Given the description of an element on the screen output the (x, y) to click on. 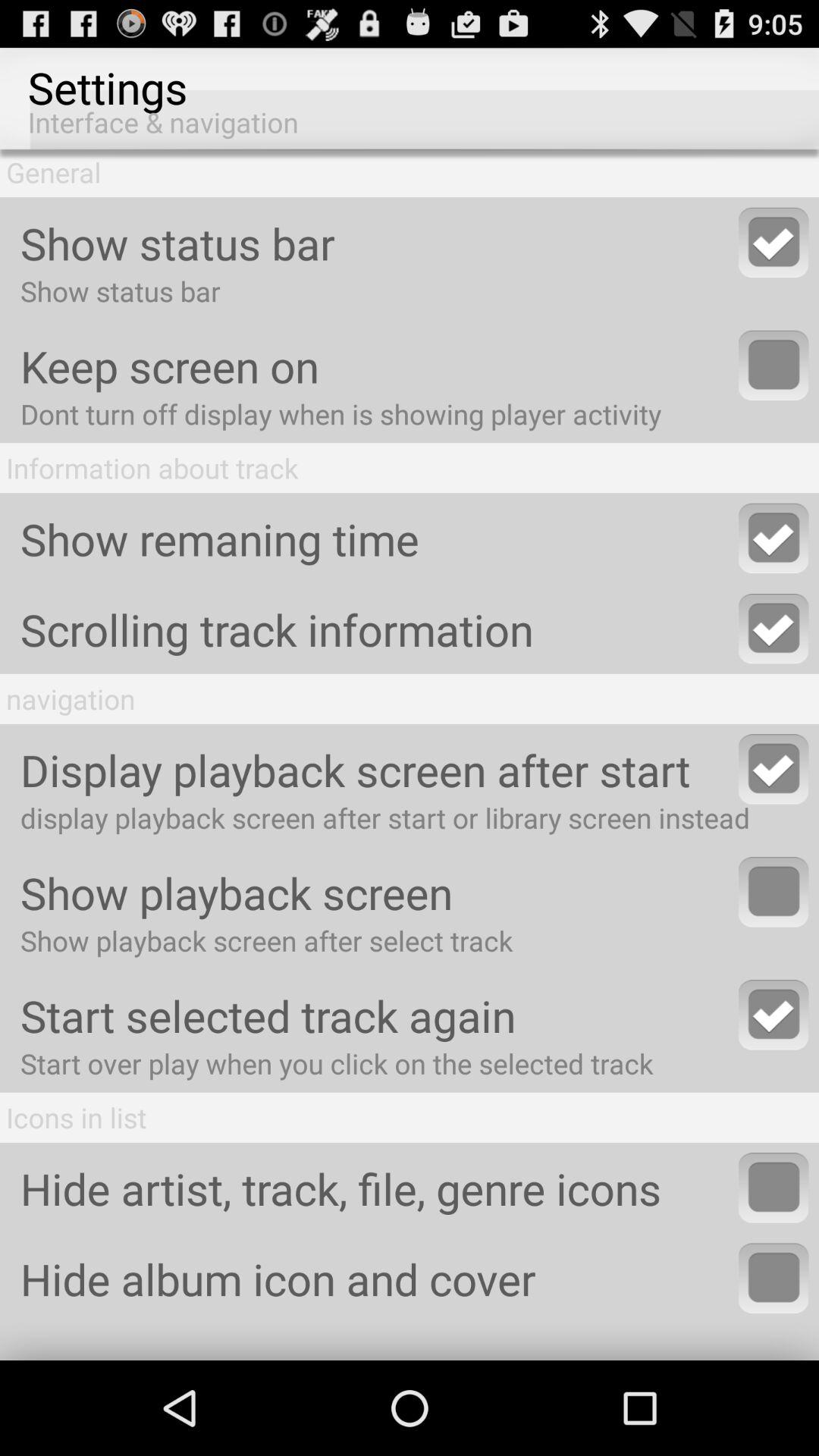
check box to hide album incon and cover (773, 1278)
